Given the description of an element on the screen output the (x, y) to click on. 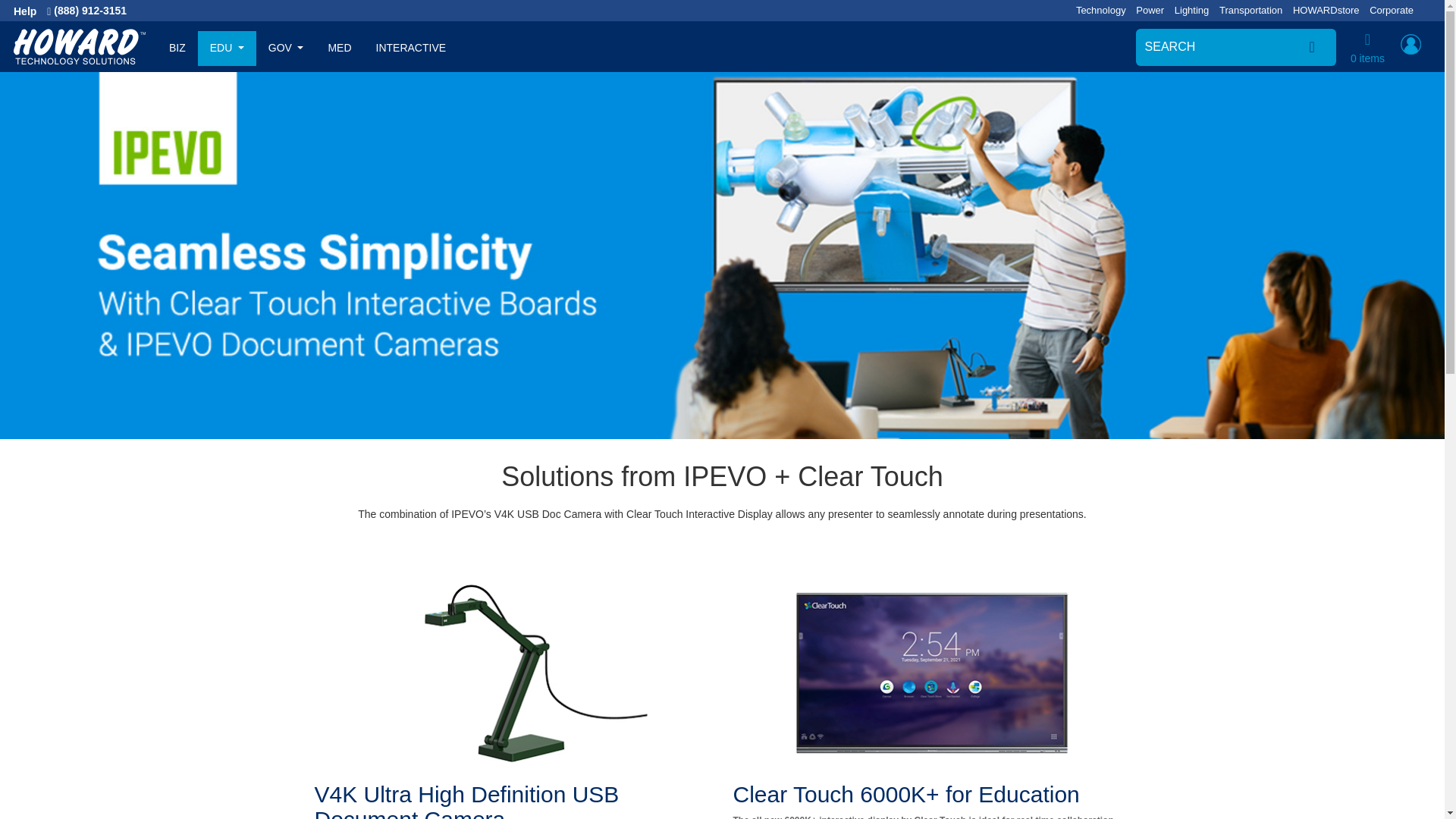
Technology (1100, 9)
Corporate (1391, 9)
INTERACTIVE (411, 48)
MED (338, 48)
HOWARDstore (1325, 9)
Lighting (1191, 9)
GOV (285, 48)
Power (1149, 9)
Transportation (1251, 9)
EDU (227, 48)
Help (29, 10)
0 items (1367, 56)
BIZ (177, 48)
